Given the description of an element on the screen output the (x, y) to click on. 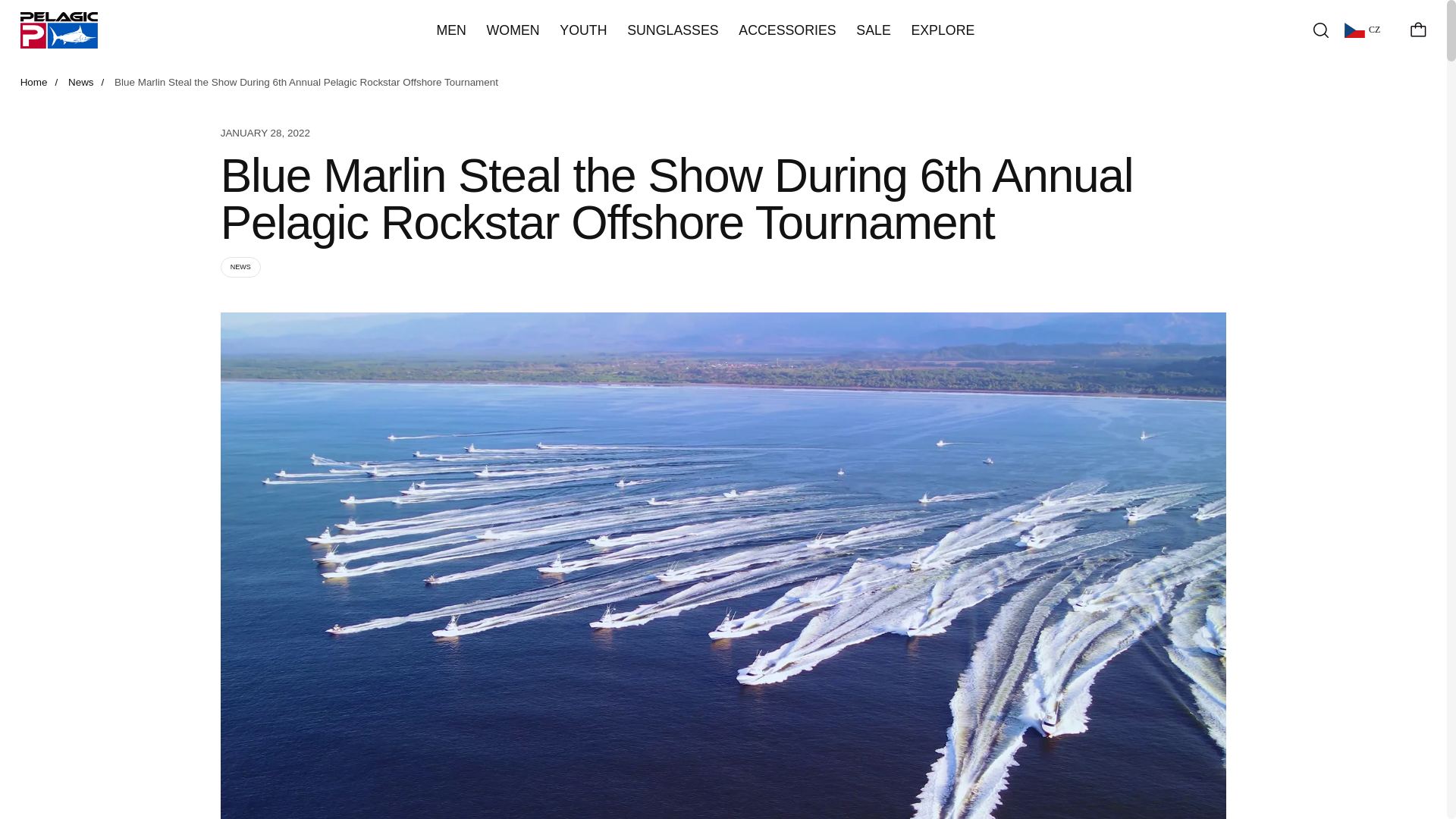
MEN (450, 29)
WOMEN (513, 29)
